Given the description of an element on the screen output the (x, y) to click on. 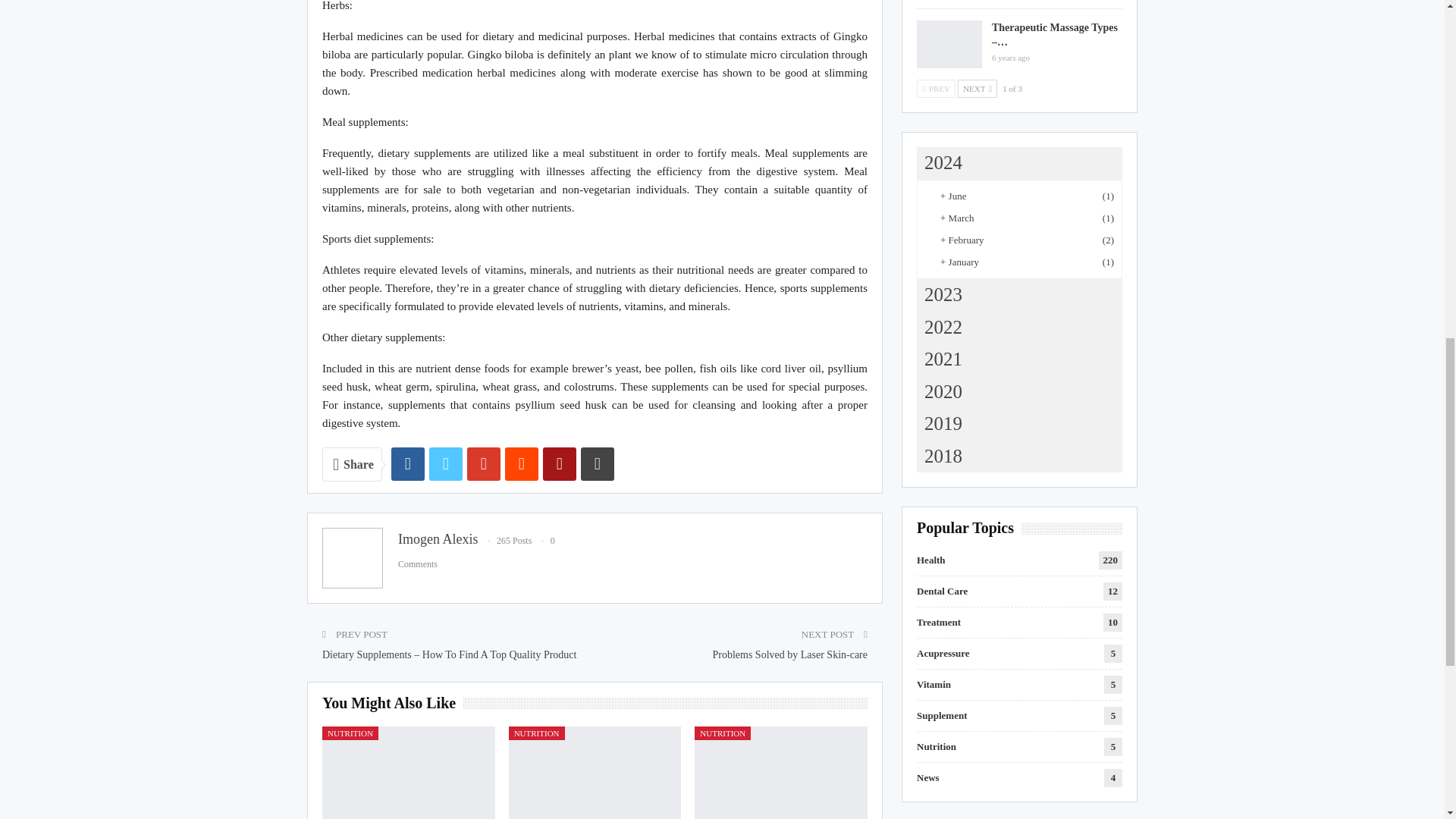
You Might Also Like (392, 703)
Herbal Diet Supplement Anti-Aging Benefits (408, 772)
NUTRITION (349, 733)
NUTRITION (536, 733)
Imogen Alexis (438, 539)
Smart Strategies For a healthy diet plan And Diet For Ladies (594, 772)
Problems Solved by Laser Skin-care (789, 654)
